Given the description of an element on the screen output the (x, y) to click on. 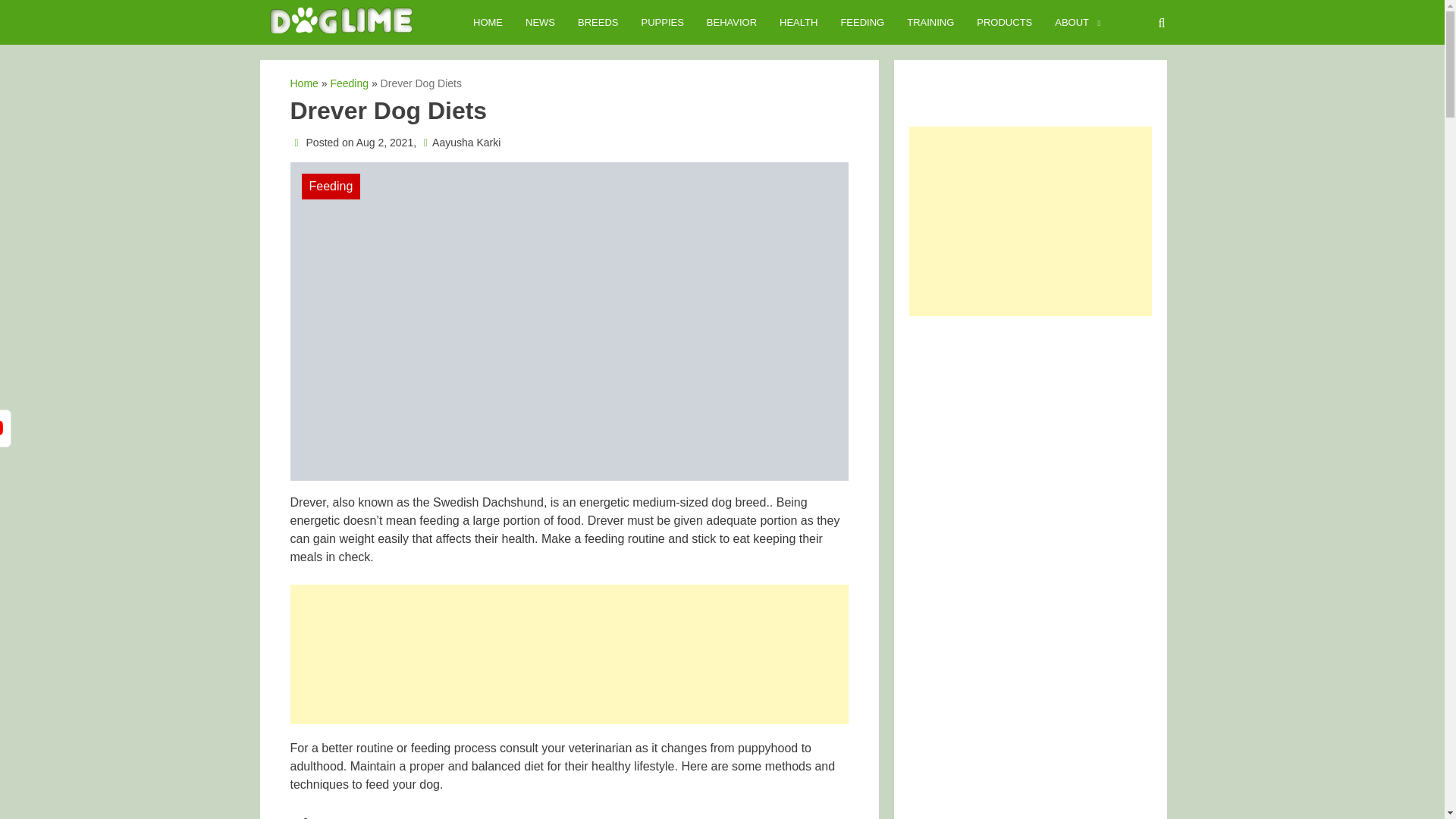
BREEDS (597, 22)
NEWS (539, 22)
Advertisement (568, 662)
ABOUT (1071, 22)
PRODUCTS (1004, 22)
Feeding (349, 82)
HEALTH (798, 22)
Advertisement (1029, 429)
Home (303, 82)
TRAINING (930, 22)
